Given the description of an element on the screen output the (x, y) to click on. 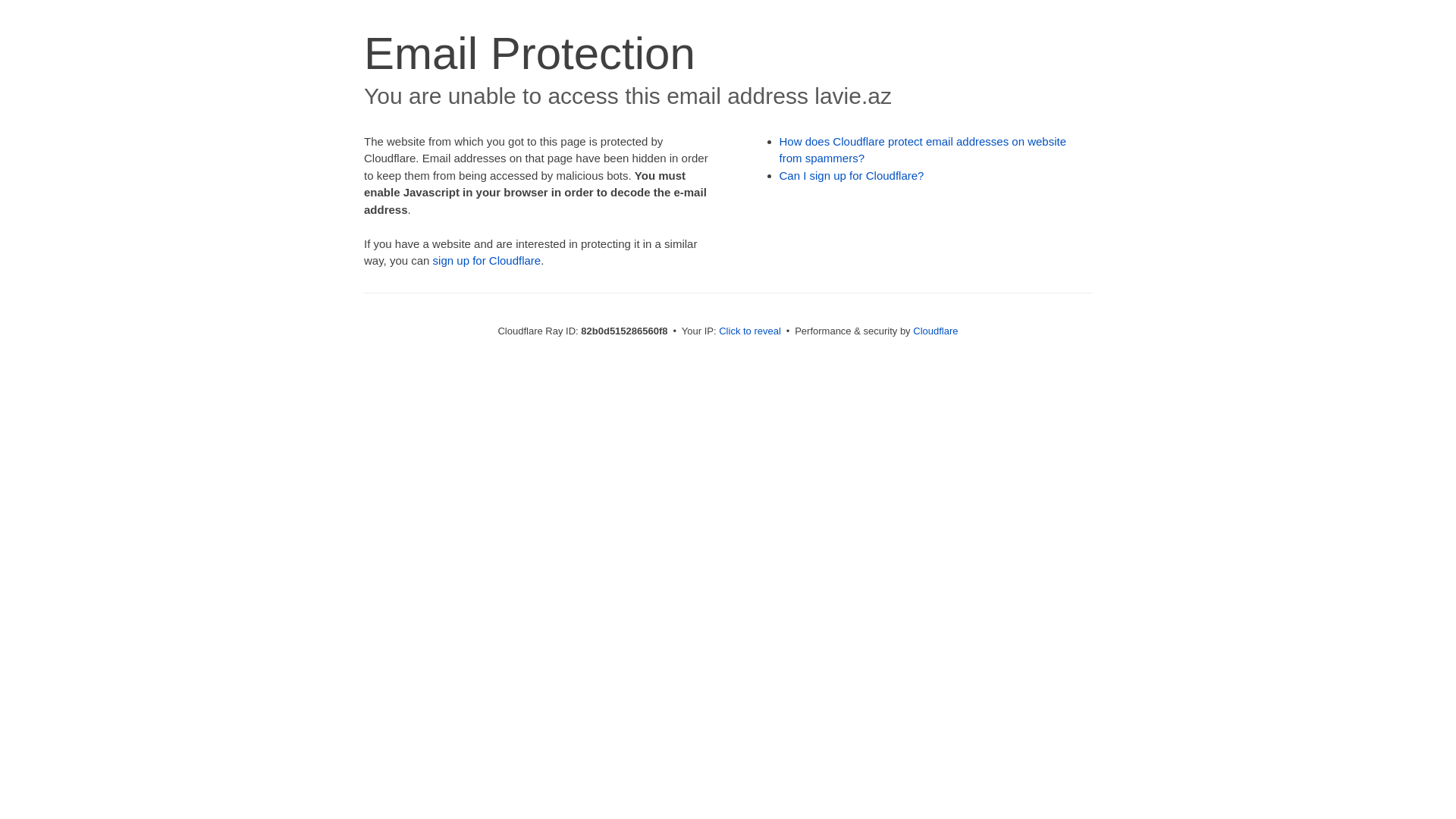
Can I sign up for Cloudflare? Element type: text (851, 175)
sign up for Cloudflare Element type: text (487, 260)
Click to reveal Element type: text (749, 330)
Cloudflare Element type: text (935, 330)
